Given the description of an element on the screen output the (x, y) to click on. 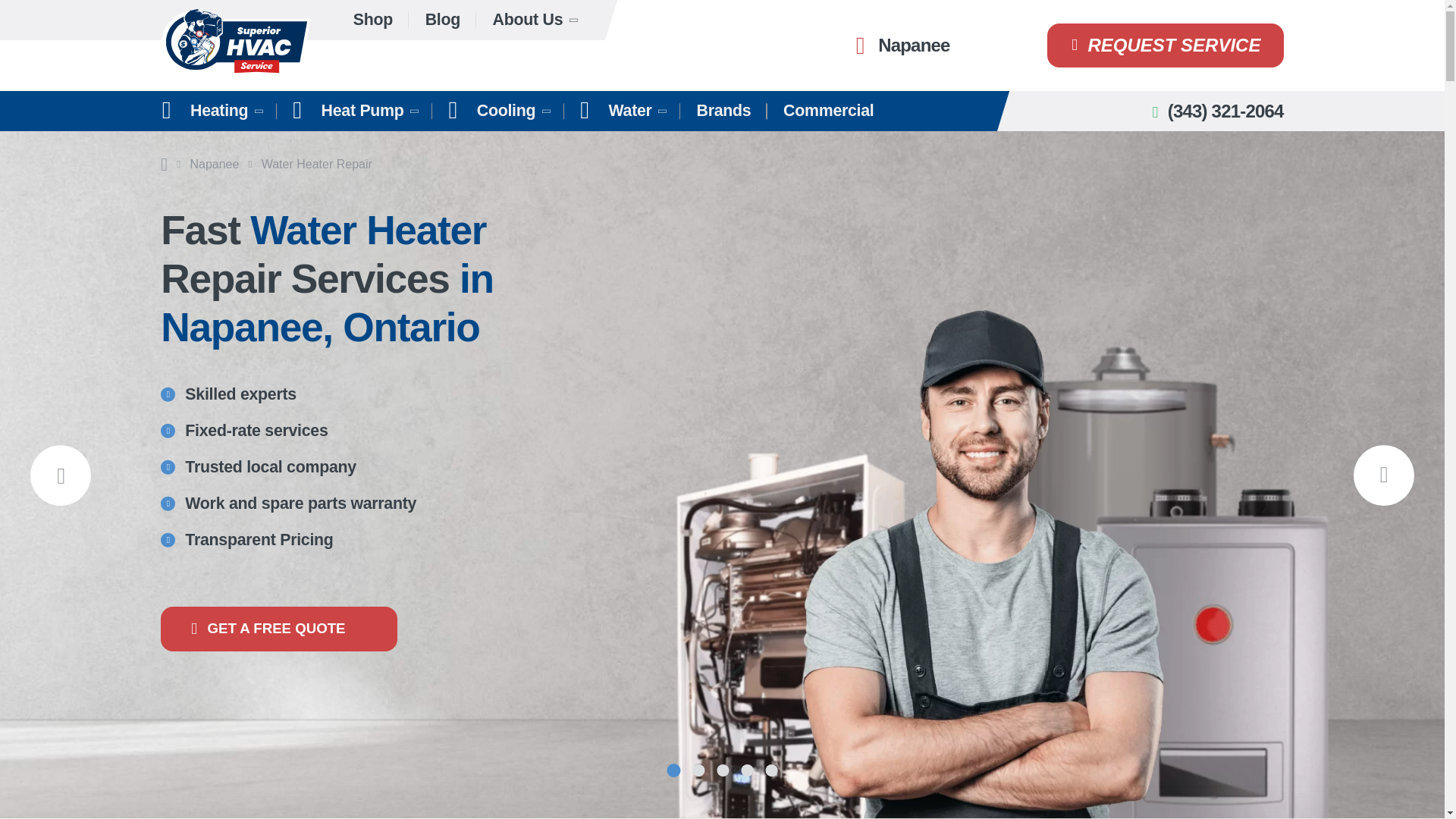
Brands (724, 111)
REQUEST SERVICE (1165, 45)
Napanee (898, 45)
Blog (442, 19)
Shop (373, 19)
Commercial (828, 111)
